Given the description of an element on the screen output the (x, y) to click on. 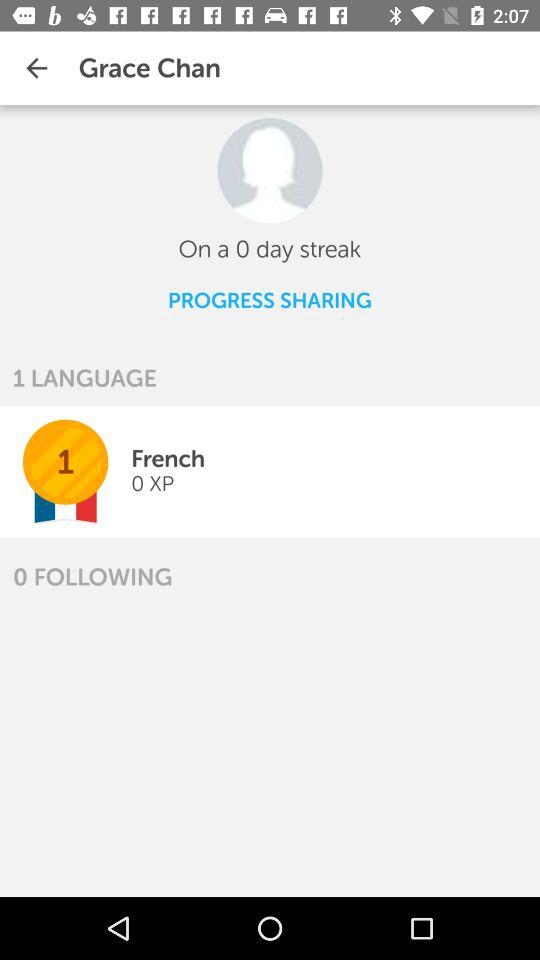
flip until progress sharing icon (269, 300)
